Given the description of an element on the screen output the (x, y) to click on. 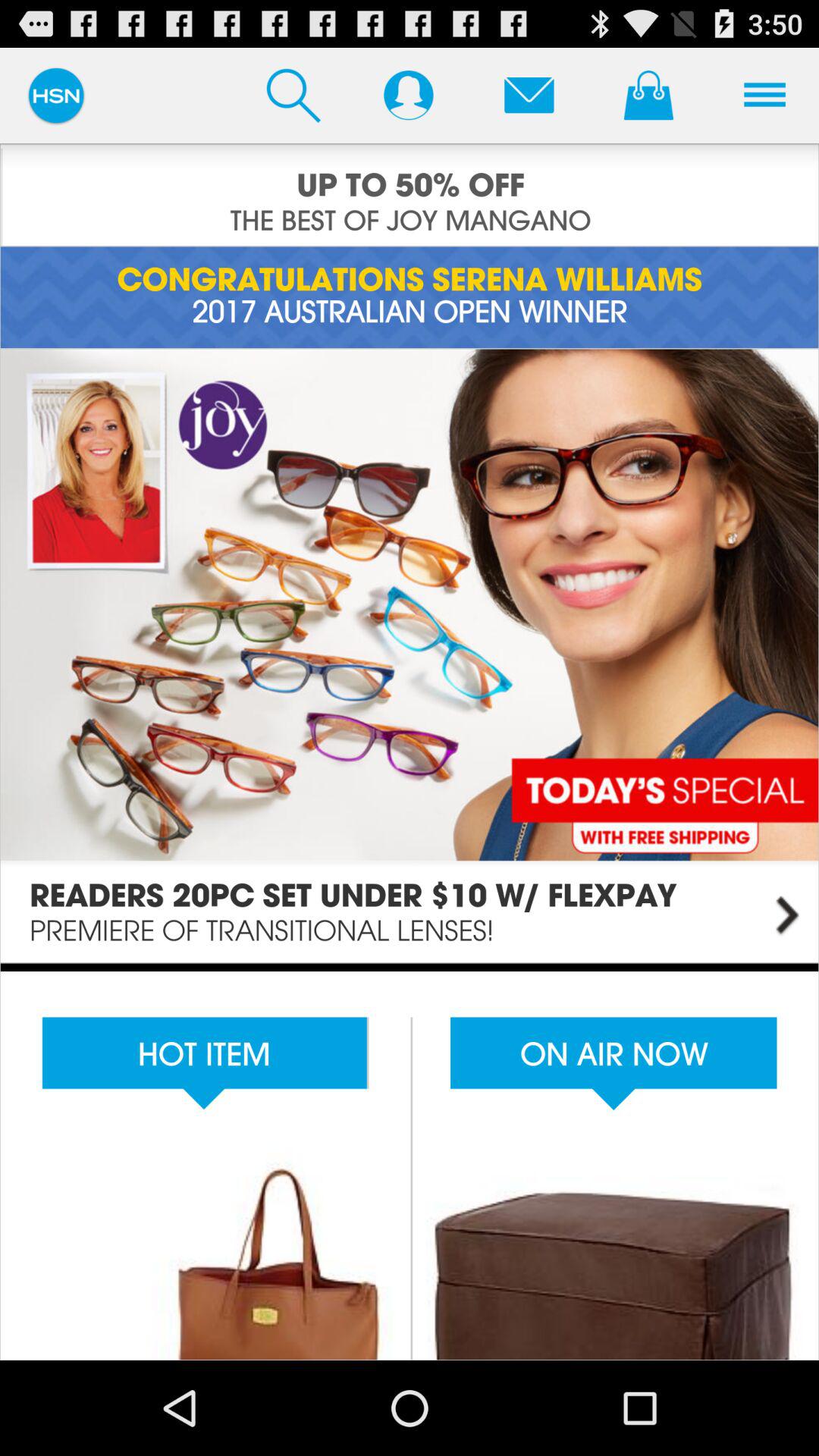
access shopping cart (648, 95)
